Given the description of an element on the screen output the (x, y) to click on. 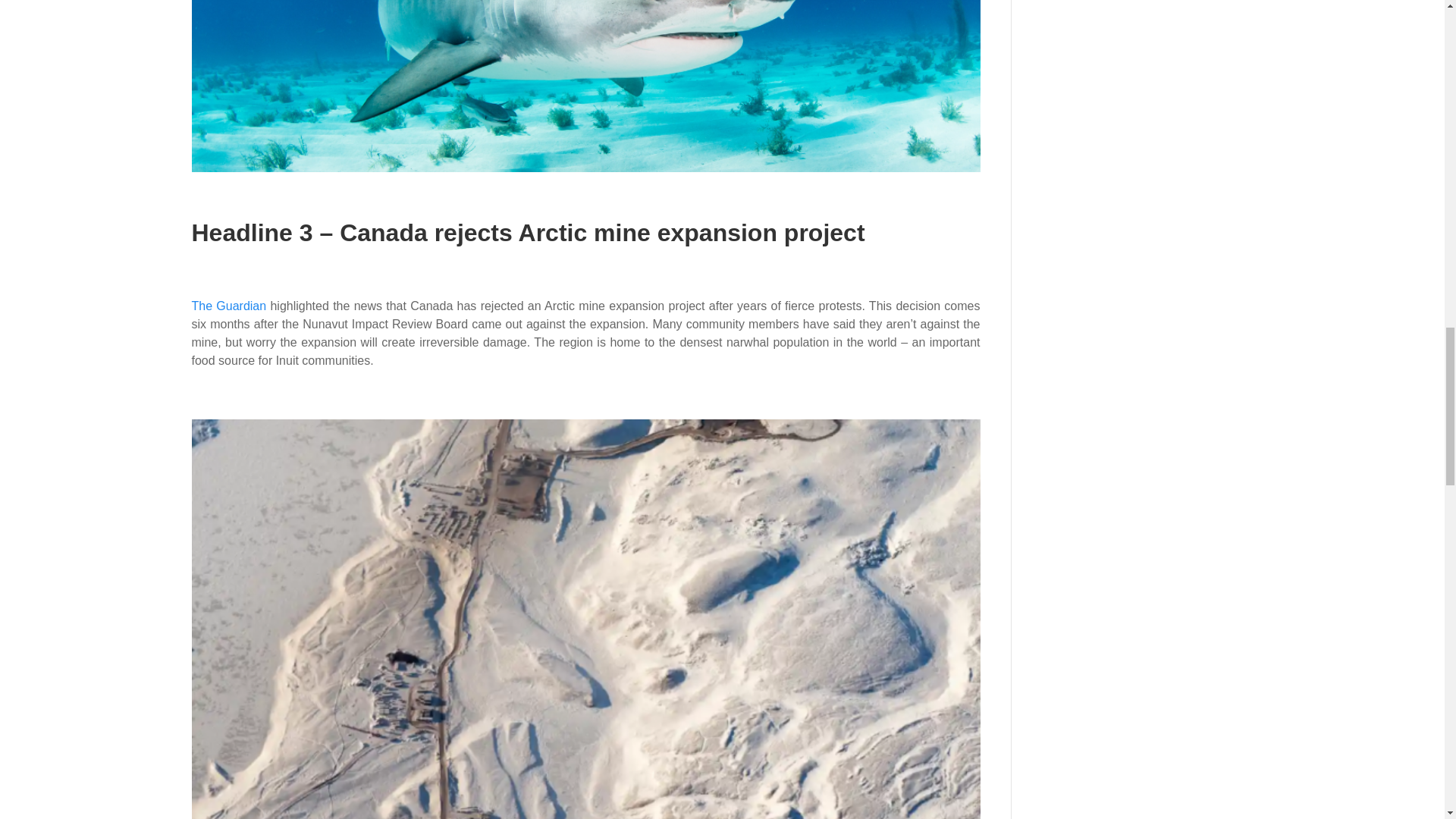
The Guardian (228, 305)
